Given the description of an element on the screen output the (x, y) to click on. 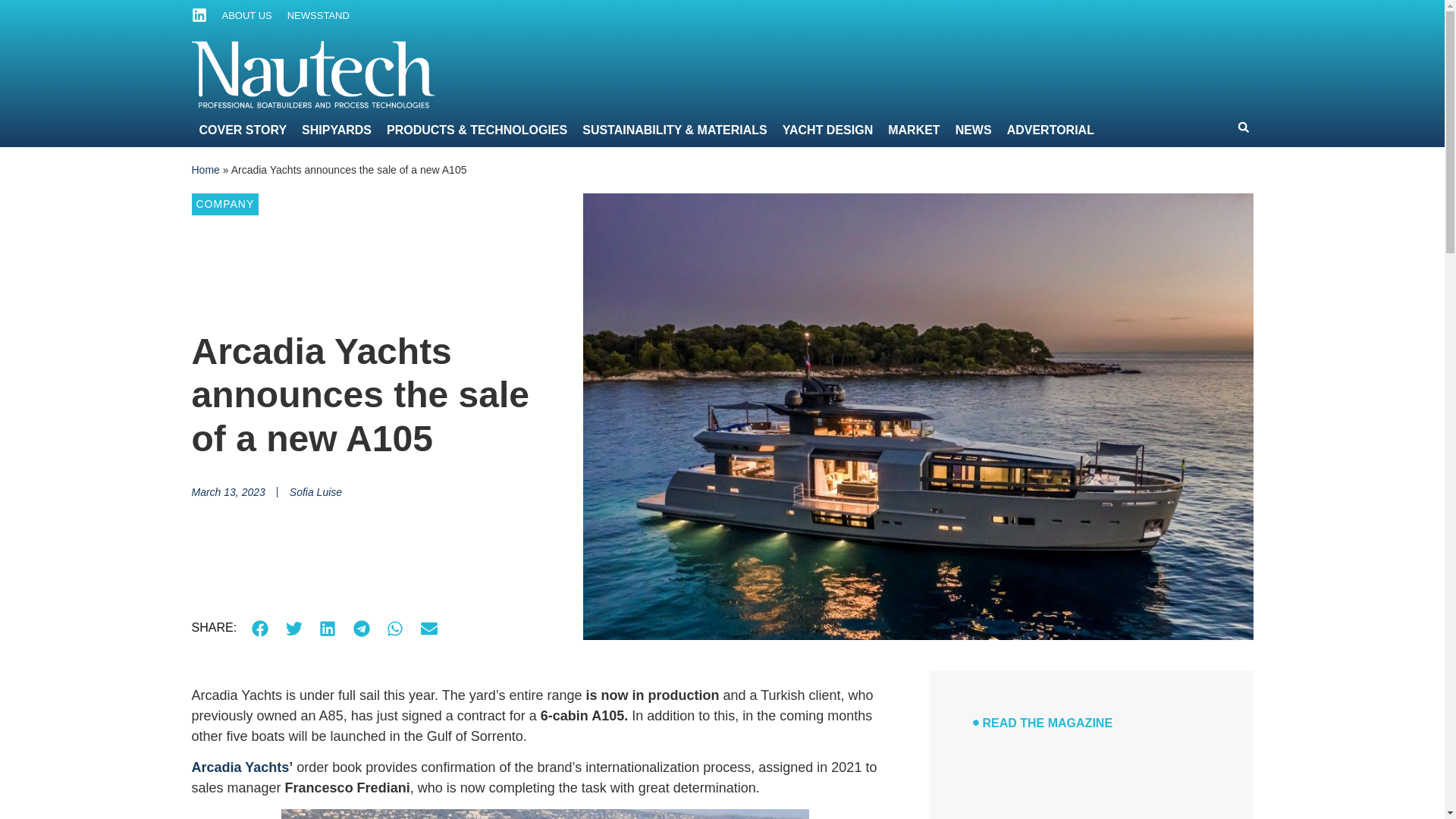
ABOUT US (245, 15)
Posts by Sofia Luise (315, 491)
YACHT DESIGN (891, 20)
COVER STORY (339, 20)
SHIPYARDS (428, 20)
ADVERTORIAL (1102, 20)
NEWSSTAND (317, 15)
NEWS (1030, 20)
MARKET (974, 20)
